Given the description of an element on the screen output the (x, y) to click on. 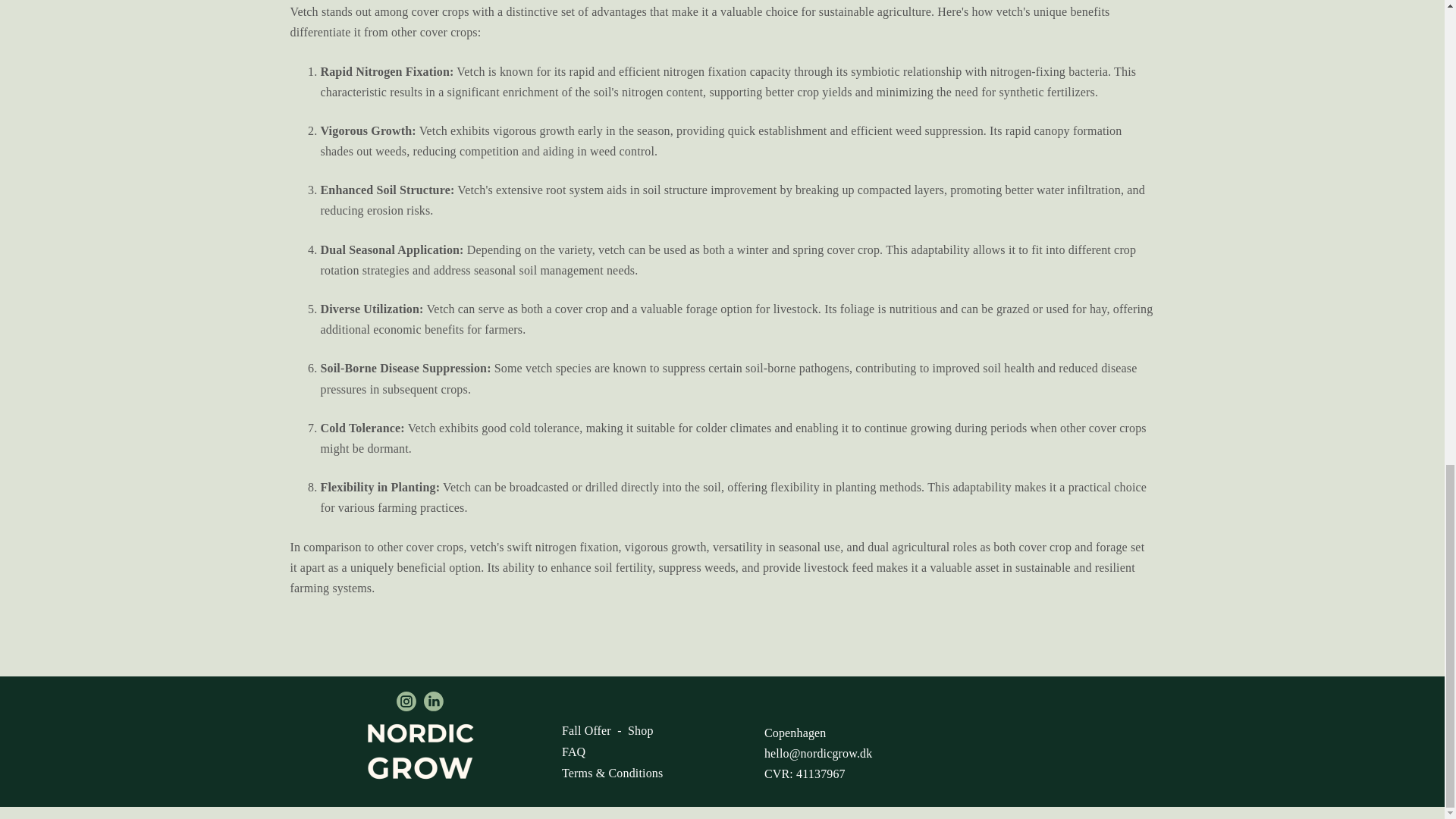
FAQ (573, 751)
Shop (640, 730)
Instagram (406, 701)
Linkedin (433, 701)
Fall Offer (586, 730)
